Given the description of an element on the screen output the (x, y) to click on. 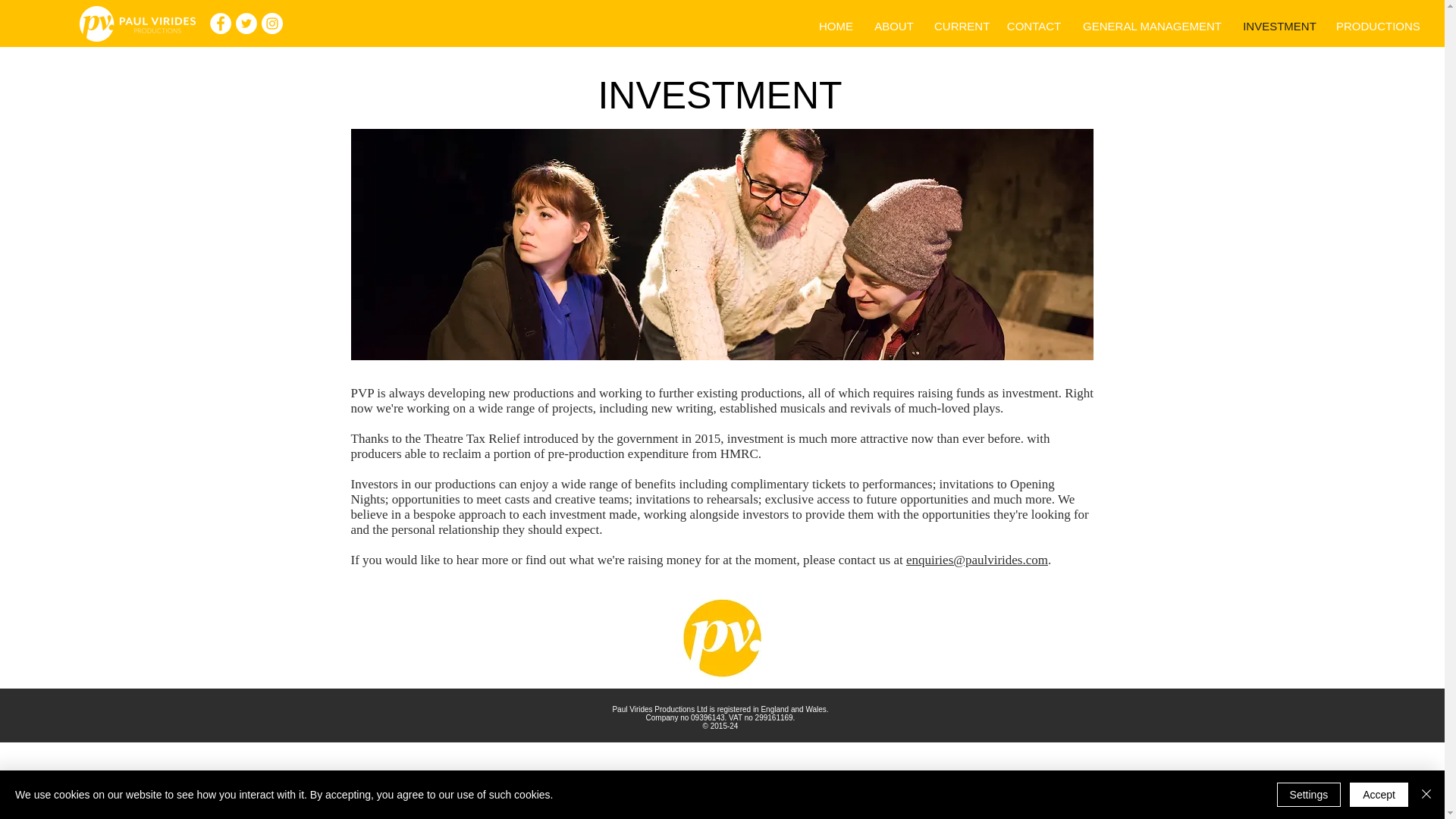
Settings (1308, 794)
CURRENT (959, 26)
ABOUT (893, 26)
PRODUCTIONS (1377, 26)
HOME (835, 26)
GENERAL MANAGEMENT (1152, 26)
Accept (1378, 794)
PVPLongWhite.png (136, 23)
INVESTMENT (1279, 26)
CONTACT (1033, 26)
